Given the description of an element on the screen output the (x, y) to click on. 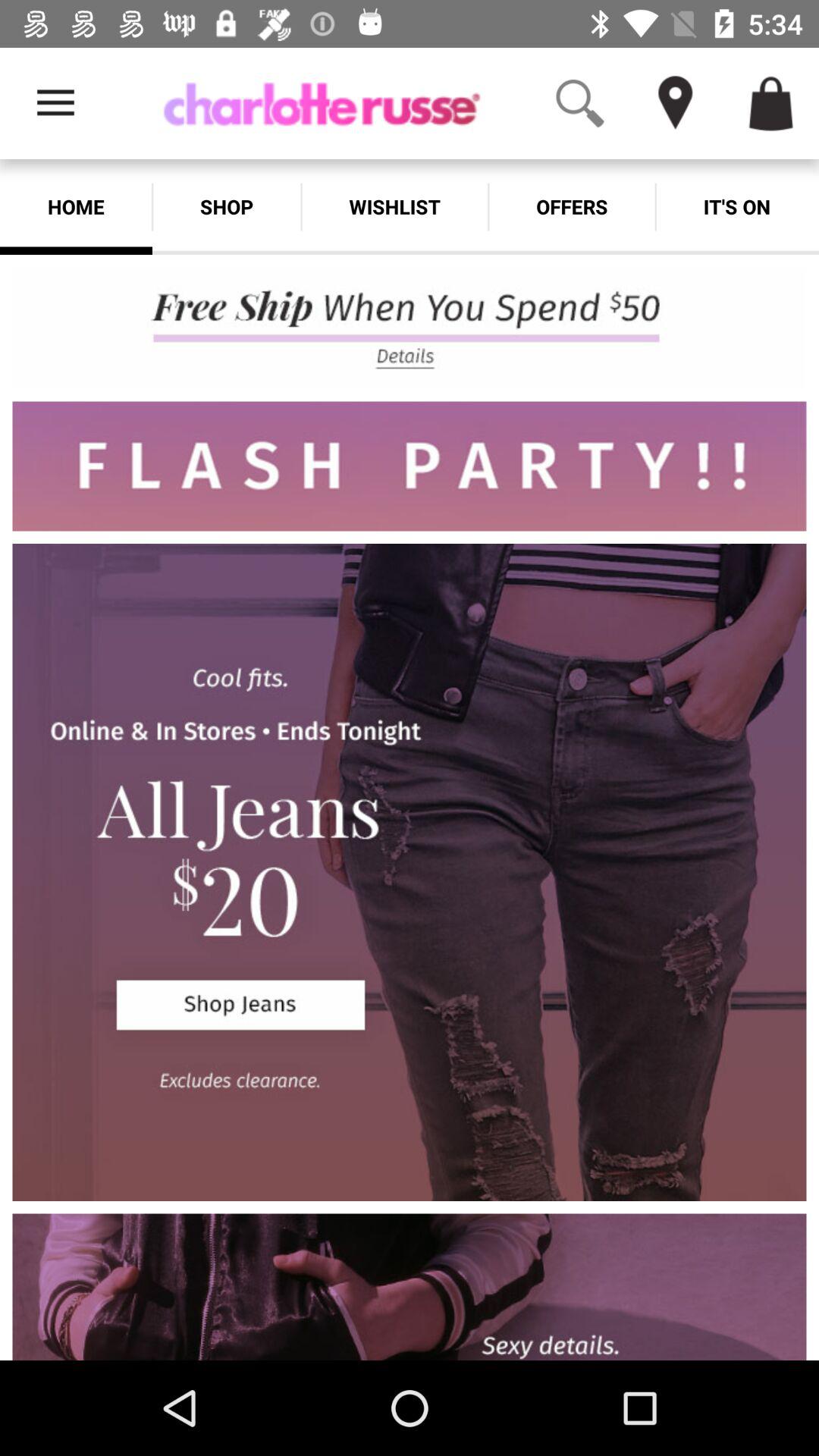
choose the it's on icon (736, 206)
